Given the description of an element on the screen output the (x, y) to click on. 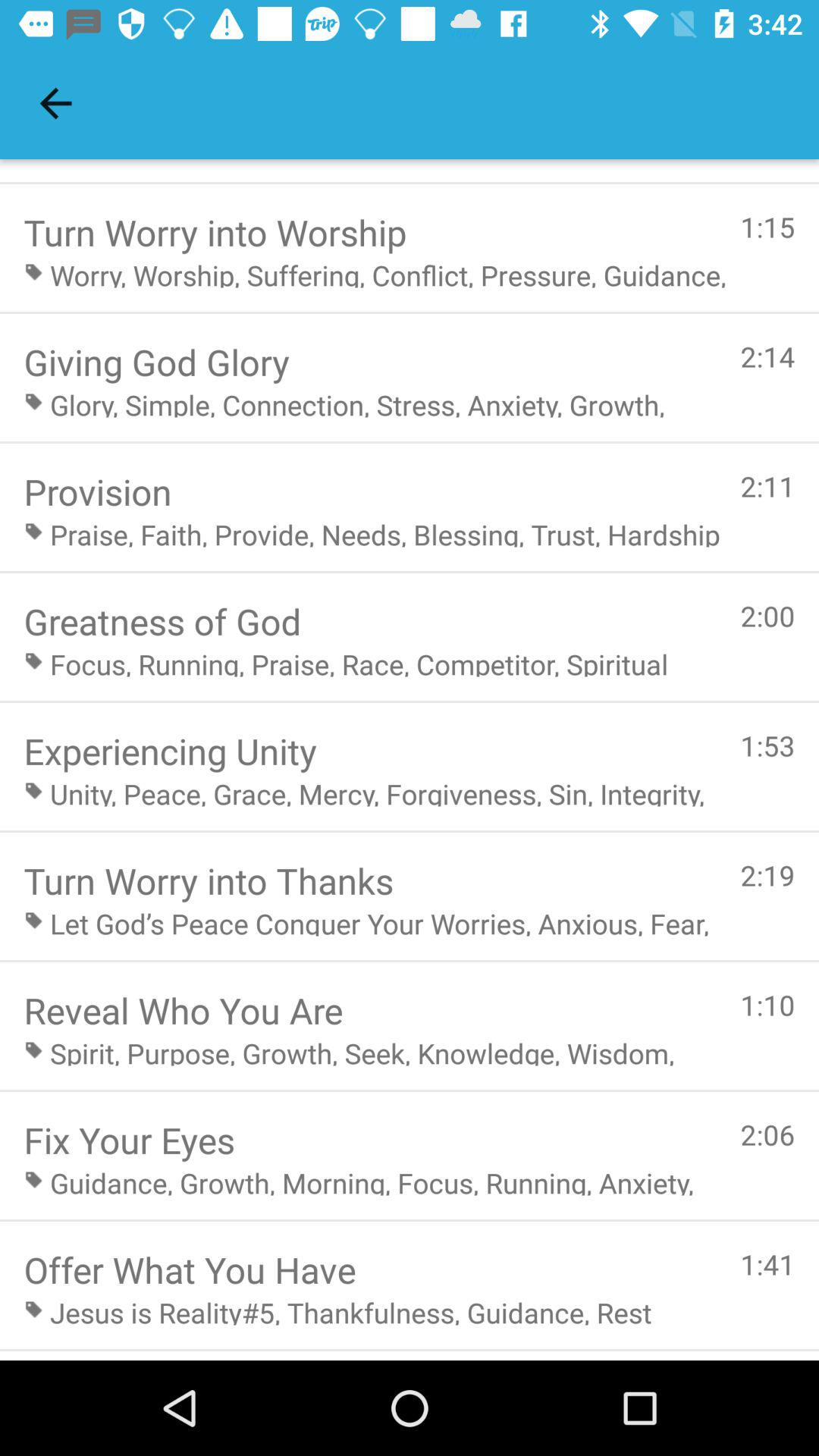
click icon at the top left corner (55, 103)
